Given the description of an element on the screen output the (x, y) to click on. 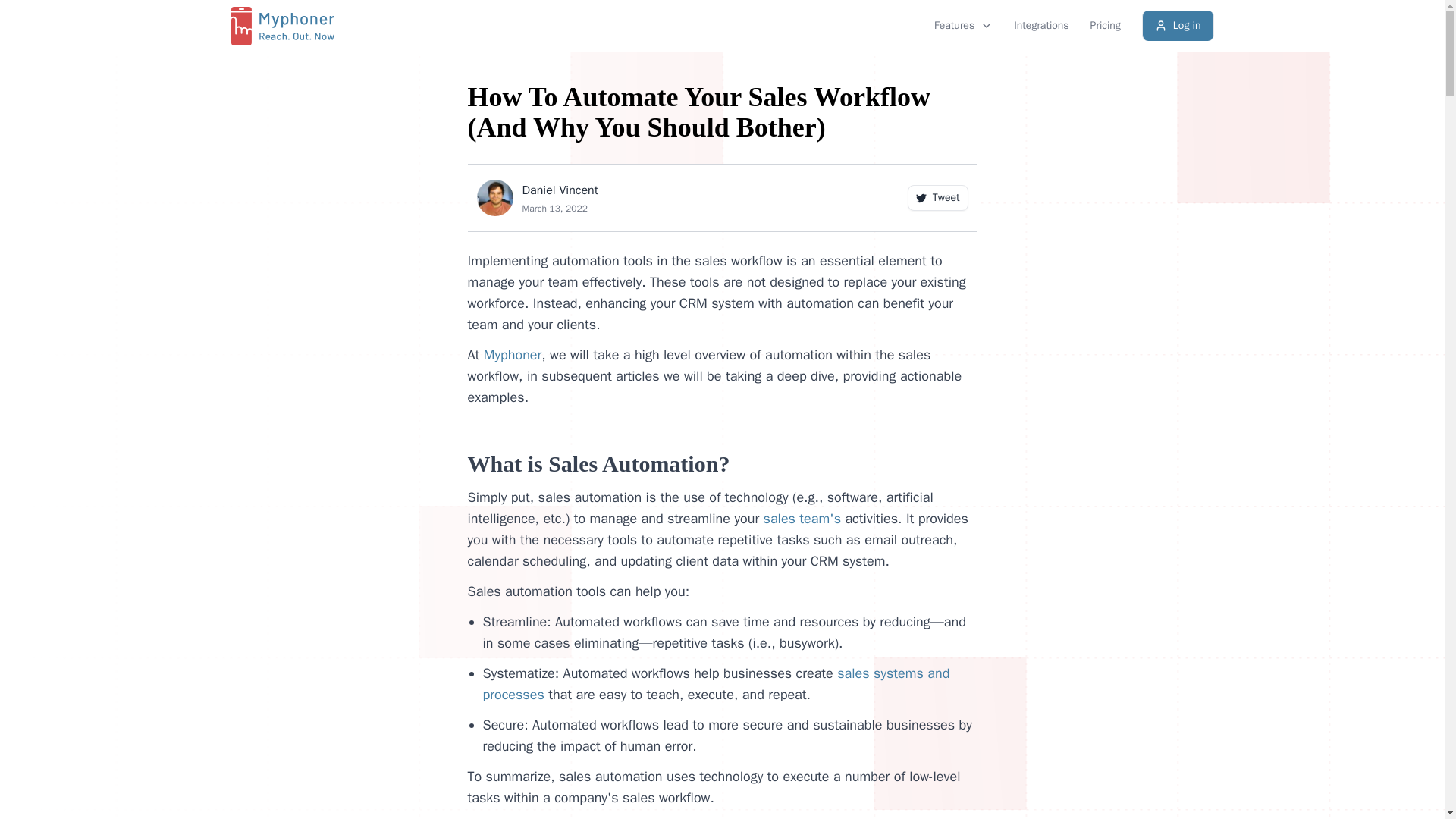
Log in (772, 25)
Integrations (1177, 25)
sales team's (1040, 25)
Tweet (801, 518)
Features (937, 197)
sales systems and processes (963, 25)
Myphoner (715, 683)
